Given the description of an element on the screen output the (x, y) to click on. 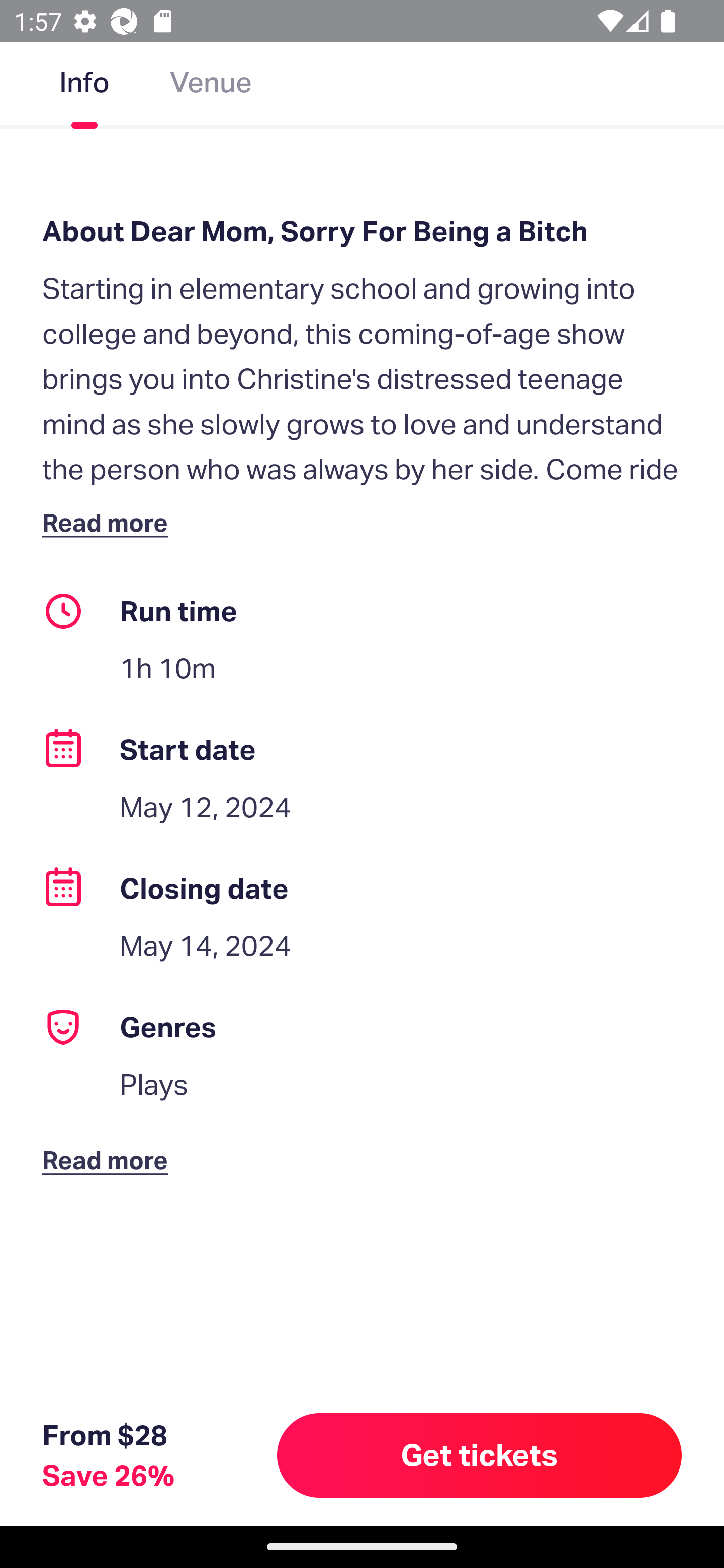
Venue (210, 85)
About Dear Mom, Sorry For Being a Bitch (361, 231)
Read more (109, 522)
Read more (109, 1143)
Get tickets (479, 1454)
